Given the description of an element on the screen output the (x, y) to click on. 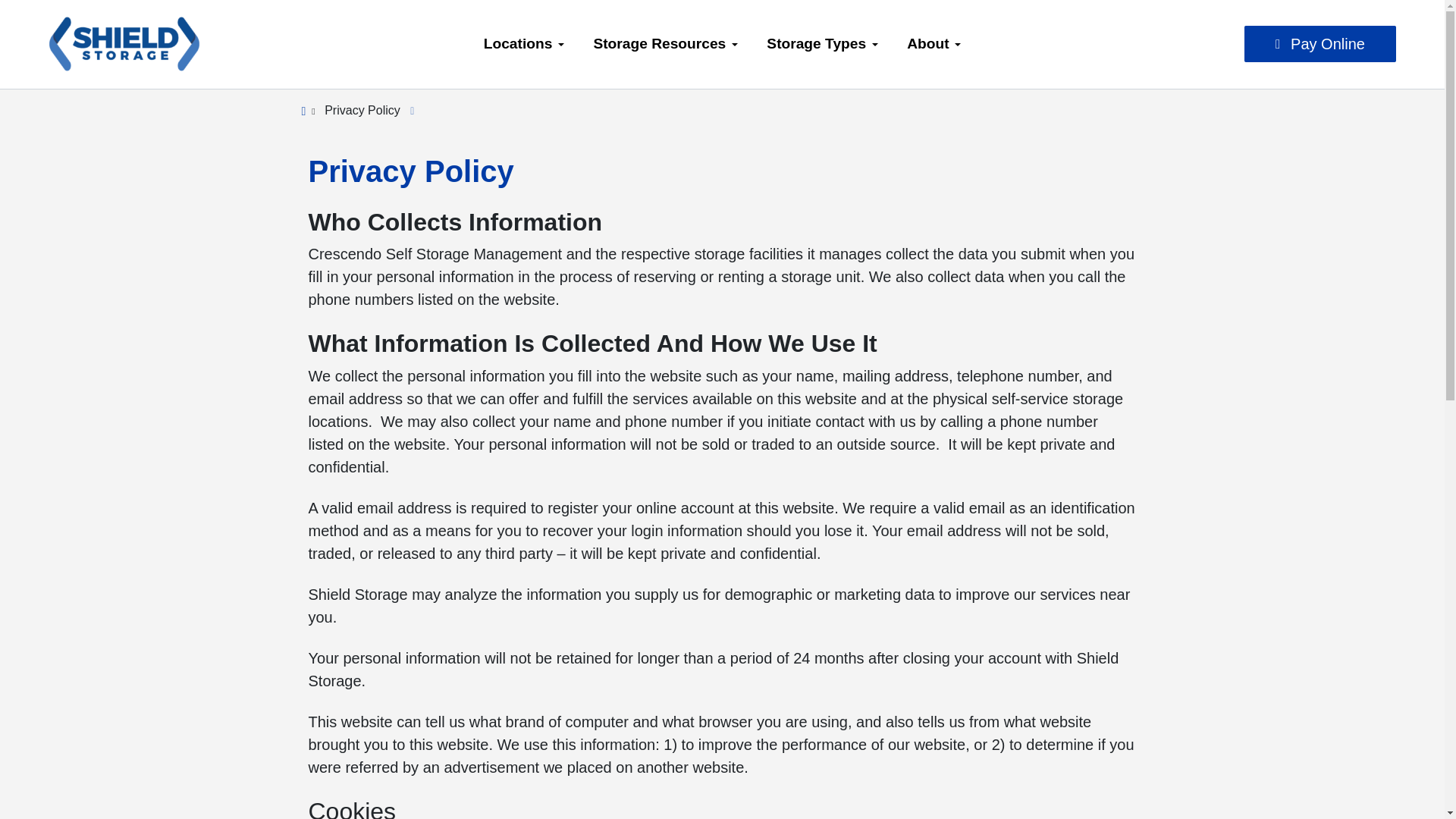
About (933, 44)
Storage Resources (665, 44)
Locations (523, 44)
Storage Types (822, 44)
Locations (523, 44)
Storage Resources (665, 44)
Pay Online (1320, 43)
Copy this url to clipboard (405, 109)
Storage Types (822, 44)
